Given the description of an element on the screen output the (x, y) to click on. 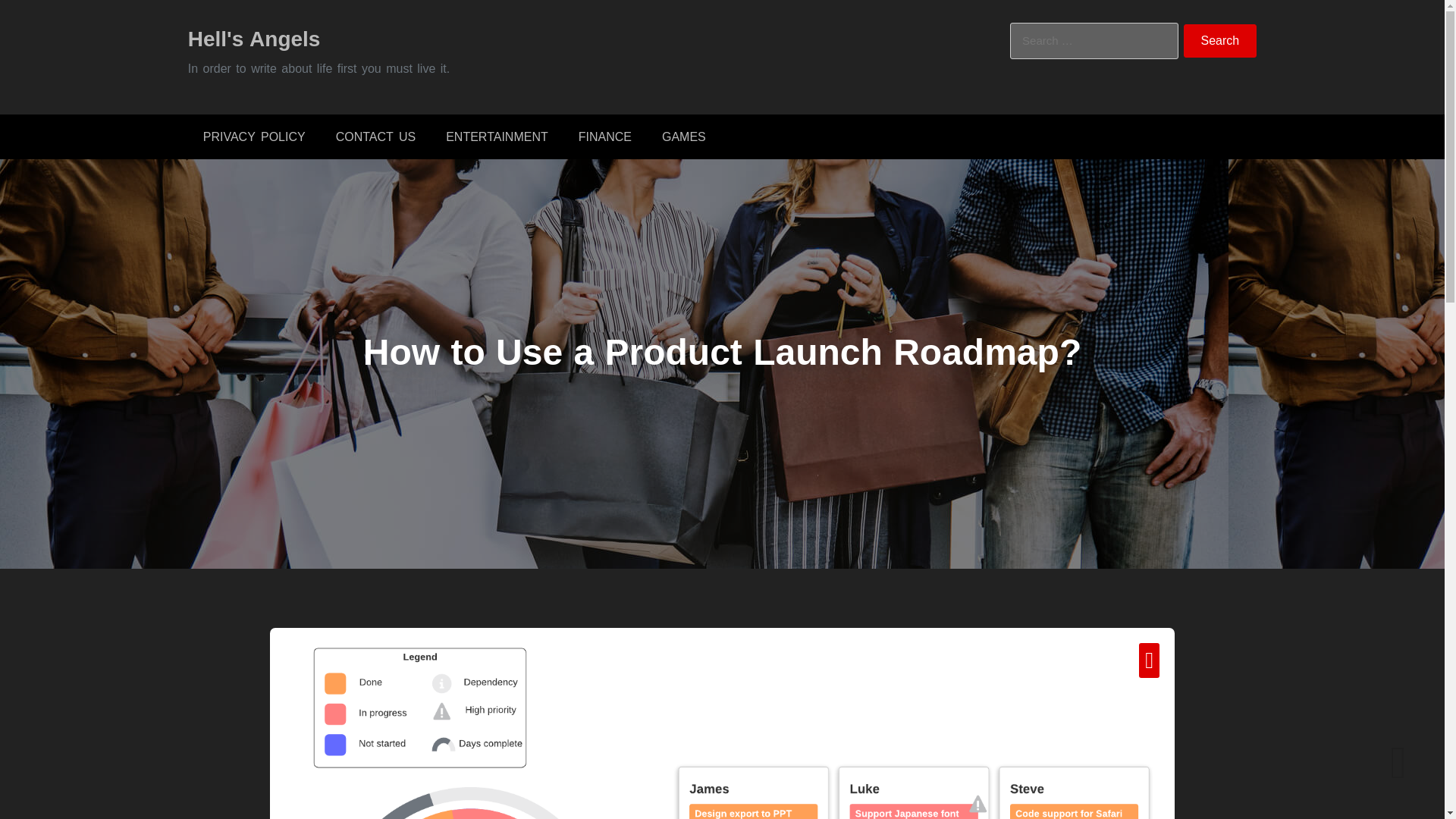
FINANCE (604, 136)
CONTACT US (375, 136)
PRIVACY POLICY (253, 136)
Search (1220, 40)
ENTERTAINMENT (496, 136)
Hell's Angels (253, 38)
Search (1220, 40)
GAMES (683, 136)
Search (1220, 40)
